Given the description of an element on the screen output the (x, y) to click on. 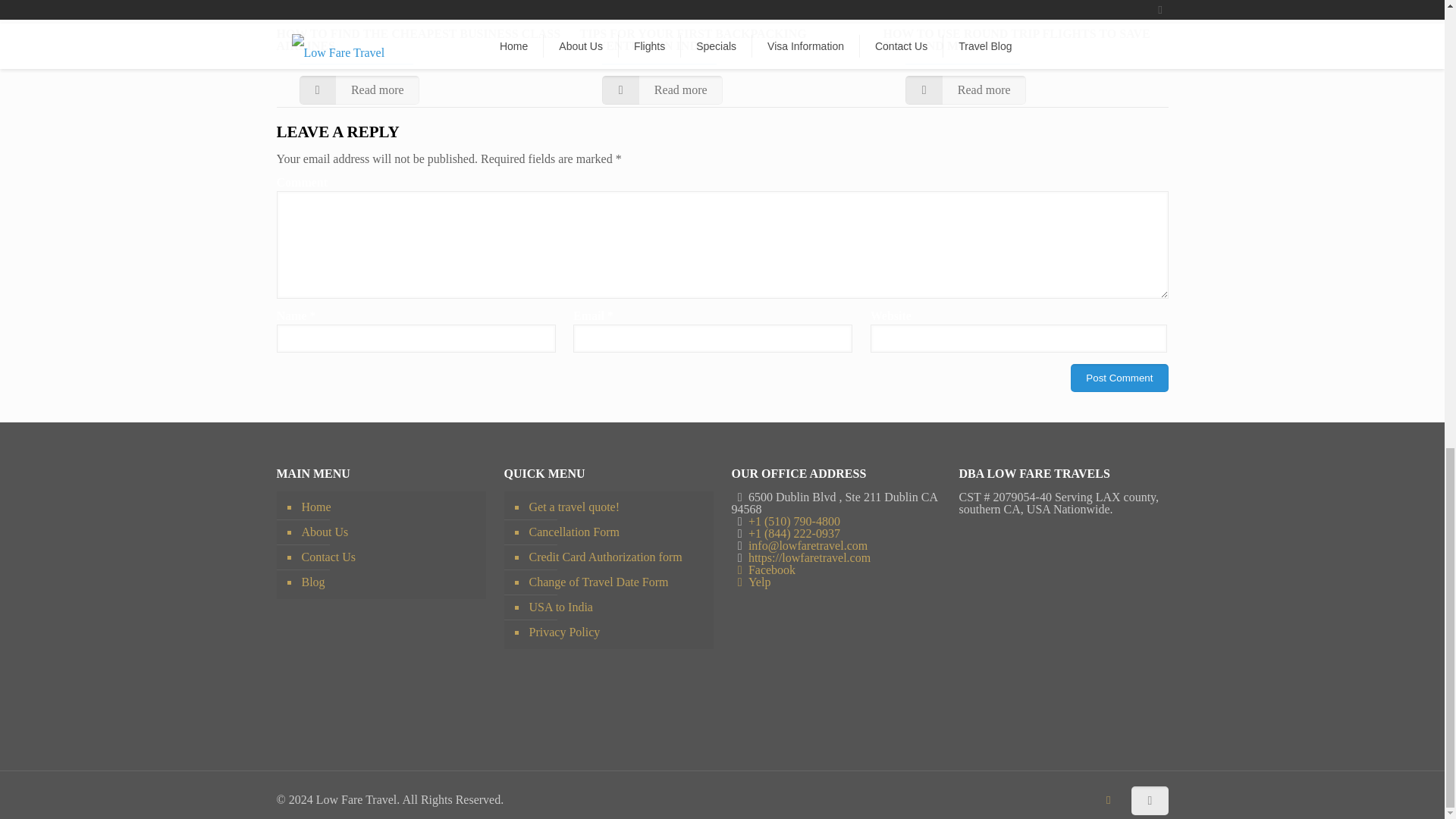
Post Comment (1118, 377)
Facebook (762, 569)
yelp (750, 581)
Facebook (1108, 799)
